Given the description of an element on the screen output the (x, y) to click on. 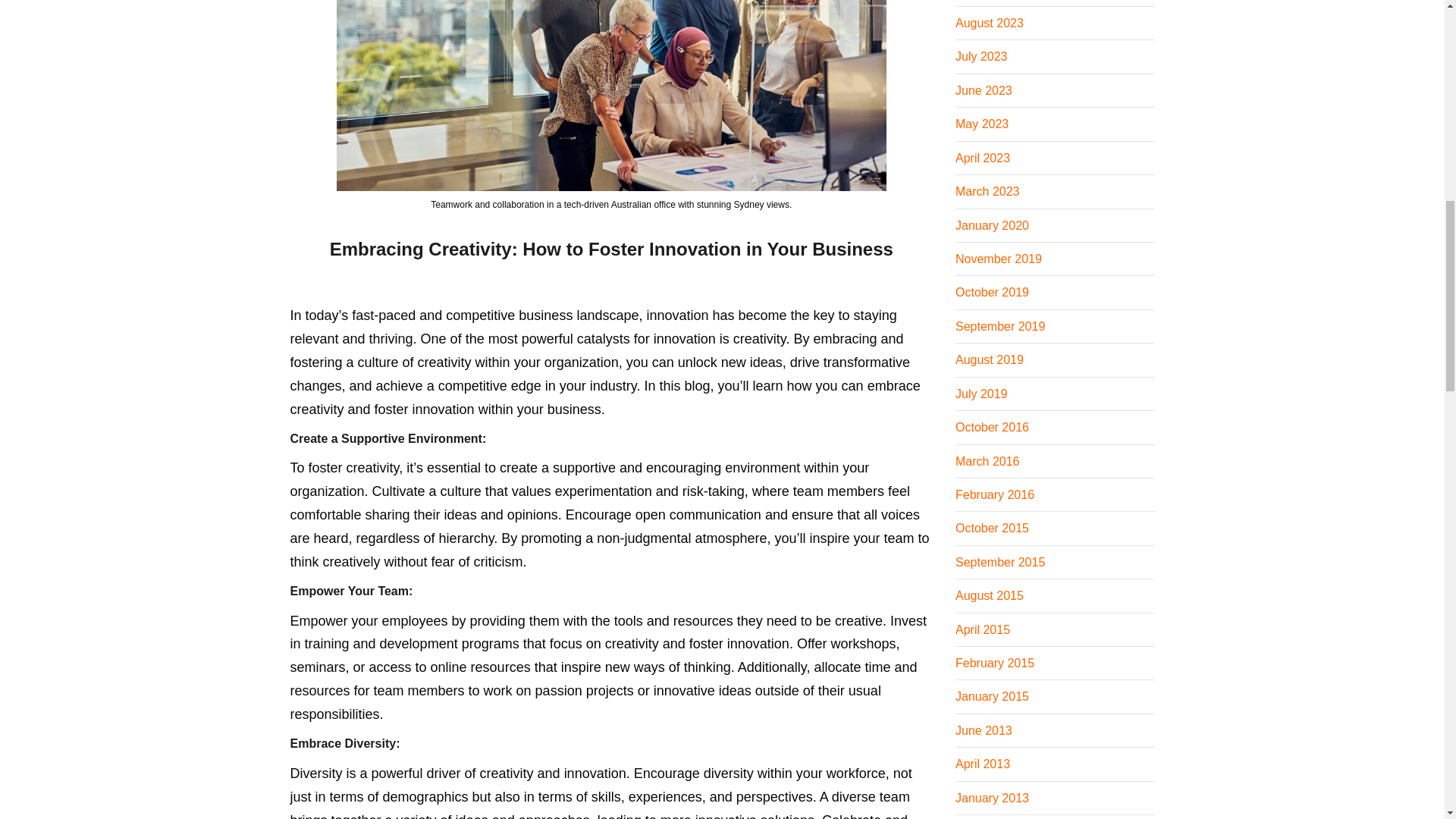
August 2023 (989, 22)
March 2023 (987, 191)
June 2023 (983, 90)
November 2019 (998, 258)
May 2023 (982, 123)
January 2020 (992, 225)
April 2023 (982, 157)
July 2023 (981, 56)
